Given the description of an element on the screen output the (x, y) to click on. 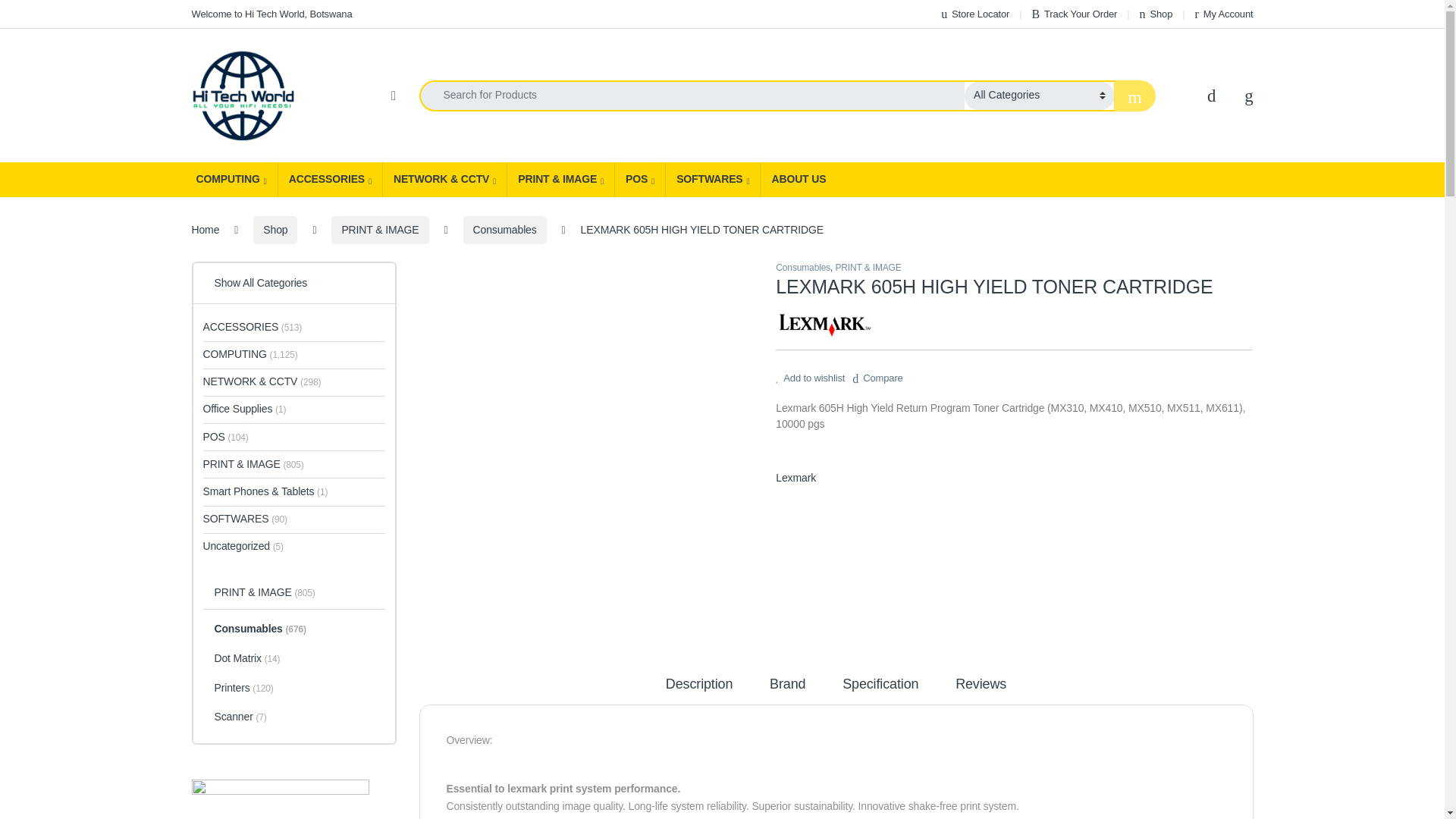
Shop (1156, 13)
Shop (1156, 13)
Store Locator (974, 13)
Track Your Order (1073, 13)
Store Locator (974, 13)
Track Your Order (1073, 13)
My Account (1224, 13)
My Account (1224, 13)
COMPUTING (230, 179)
Welcome to Hi Tech World, Botswana (271, 13)
